Given the description of an element on the screen output the (x, y) to click on. 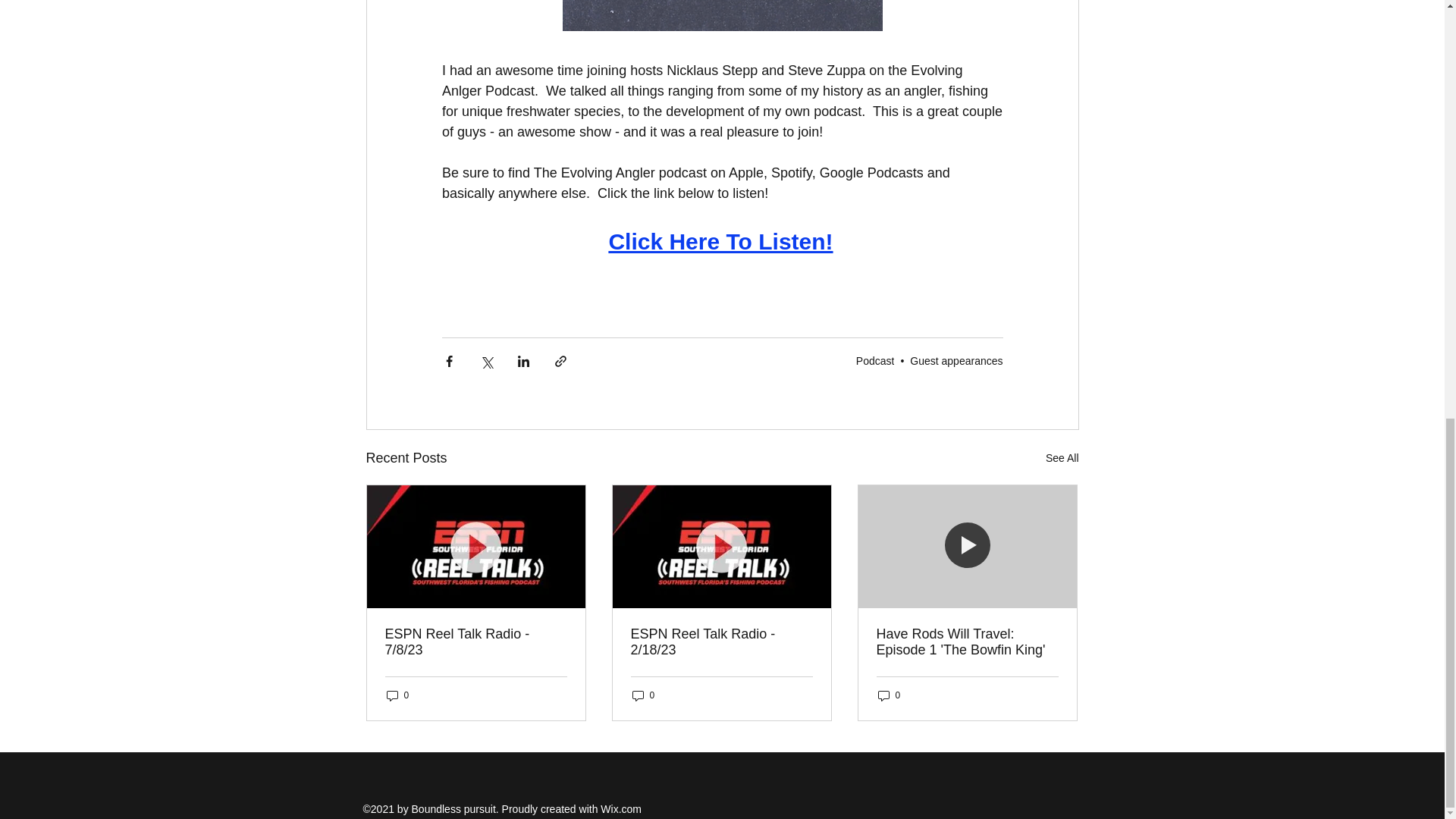
Click Here To Listen! (720, 244)
Podcast (875, 360)
Guest appearances (956, 360)
